Given the description of an element on the screen output the (x, y) to click on. 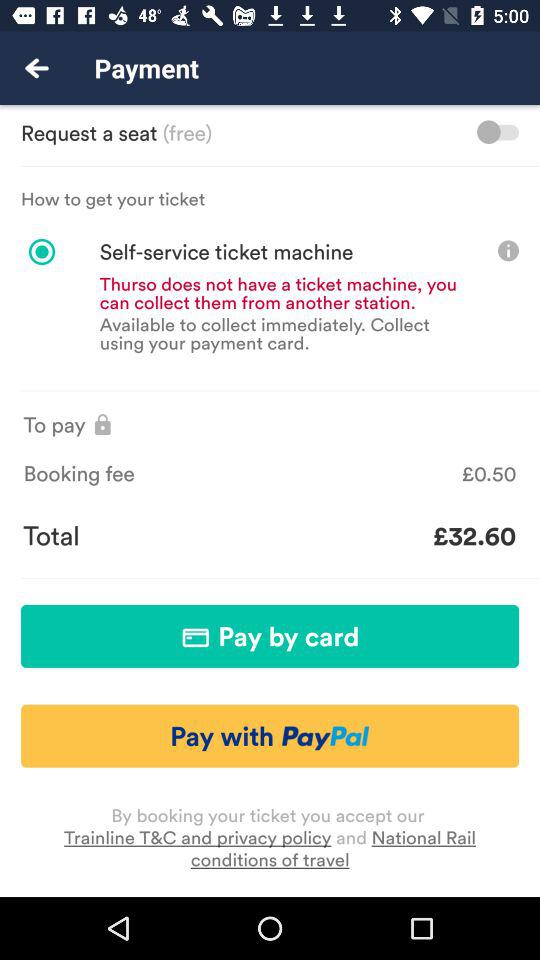
show info (508, 250)
